Given the description of an element on the screen output the (x, y) to click on. 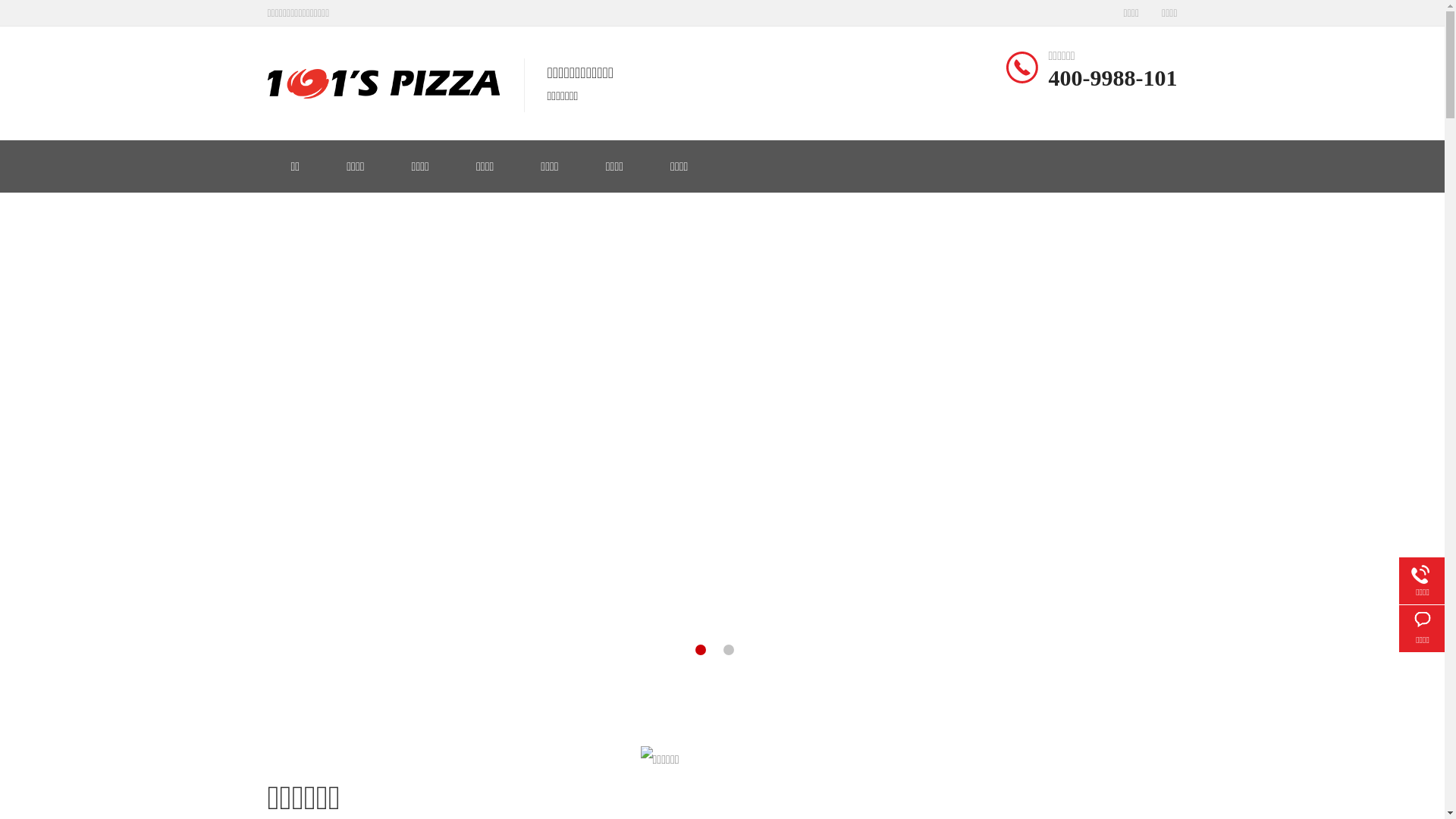
logo Element type: hover (382, 83)
